Given the description of an element on the screen output the (x, y) to click on. 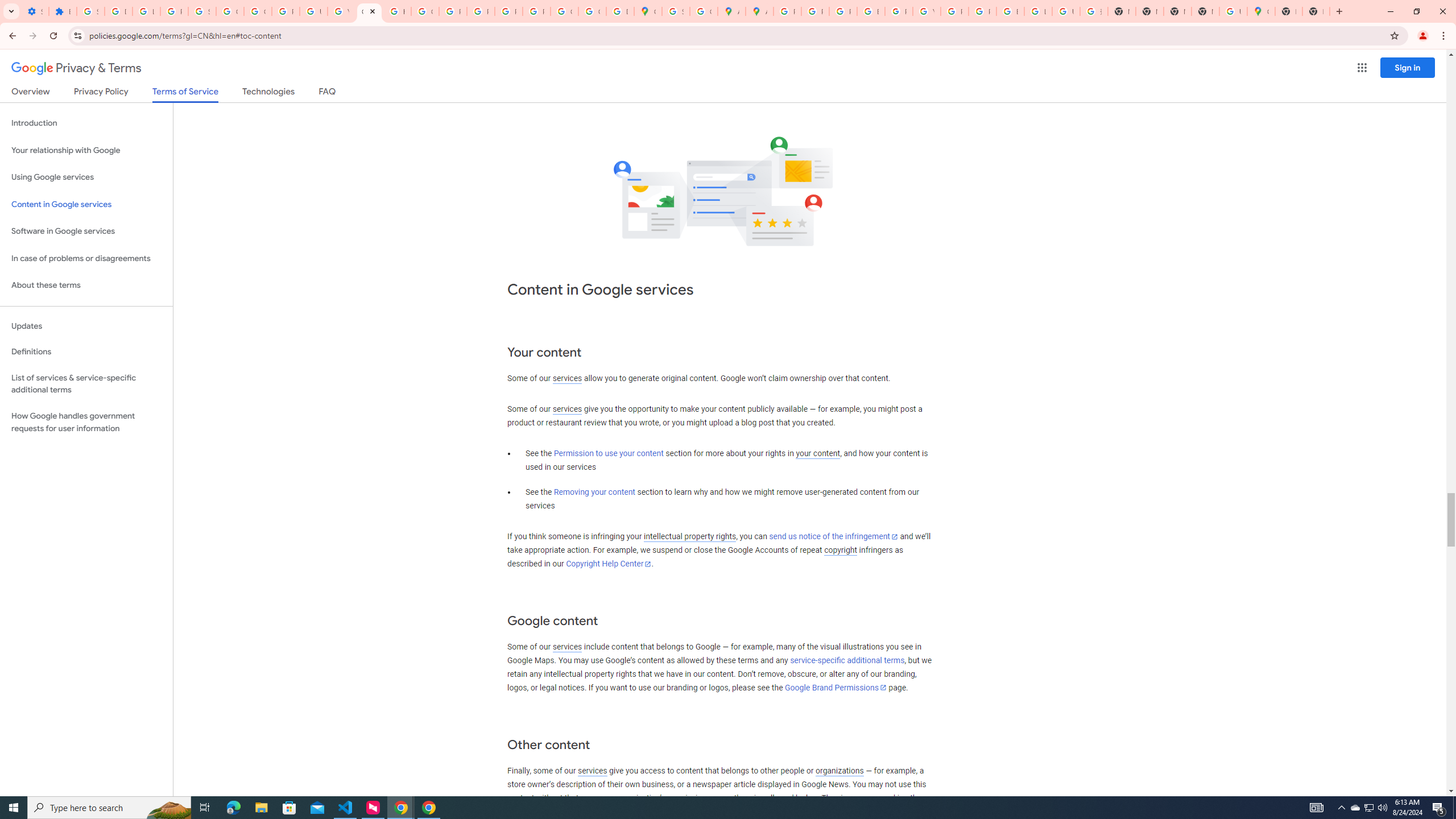
Google Maps (647, 11)
New Tab (1205, 11)
Sign in - Google Accounts (675, 11)
Delete photos & videos - Computer - Google Photos Help (118, 11)
